Given the description of an element on the screen output the (x, y) to click on. 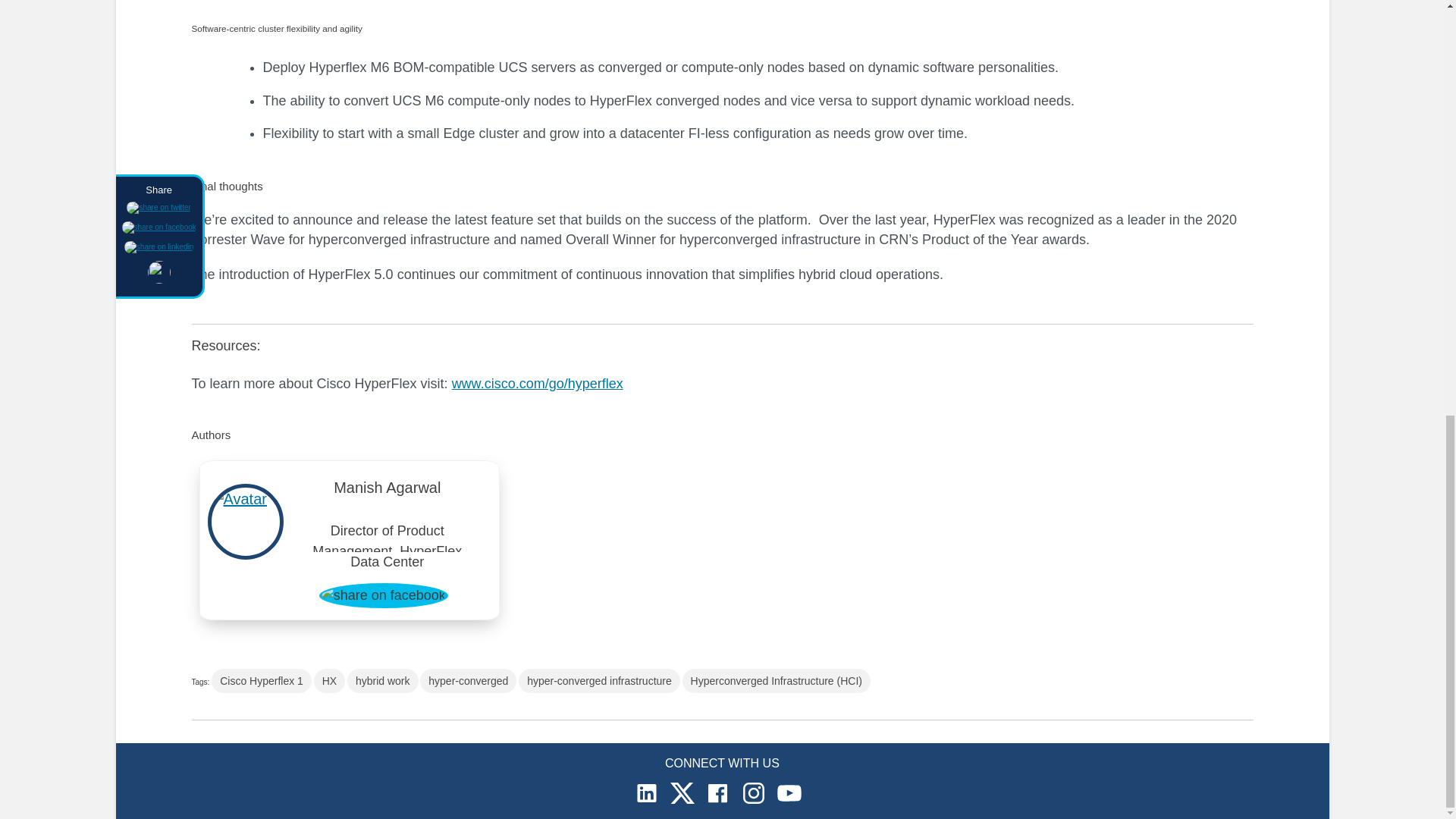
hyper-converged (468, 680)
hyper-converged infrastructure (598, 680)
hybrid work (383, 680)
Manish Agarwal (387, 490)
HX (329, 680)
Cisco Hyperflex 1 (261, 680)
